Given the description of an element on the screen output the (x, y) to click on. 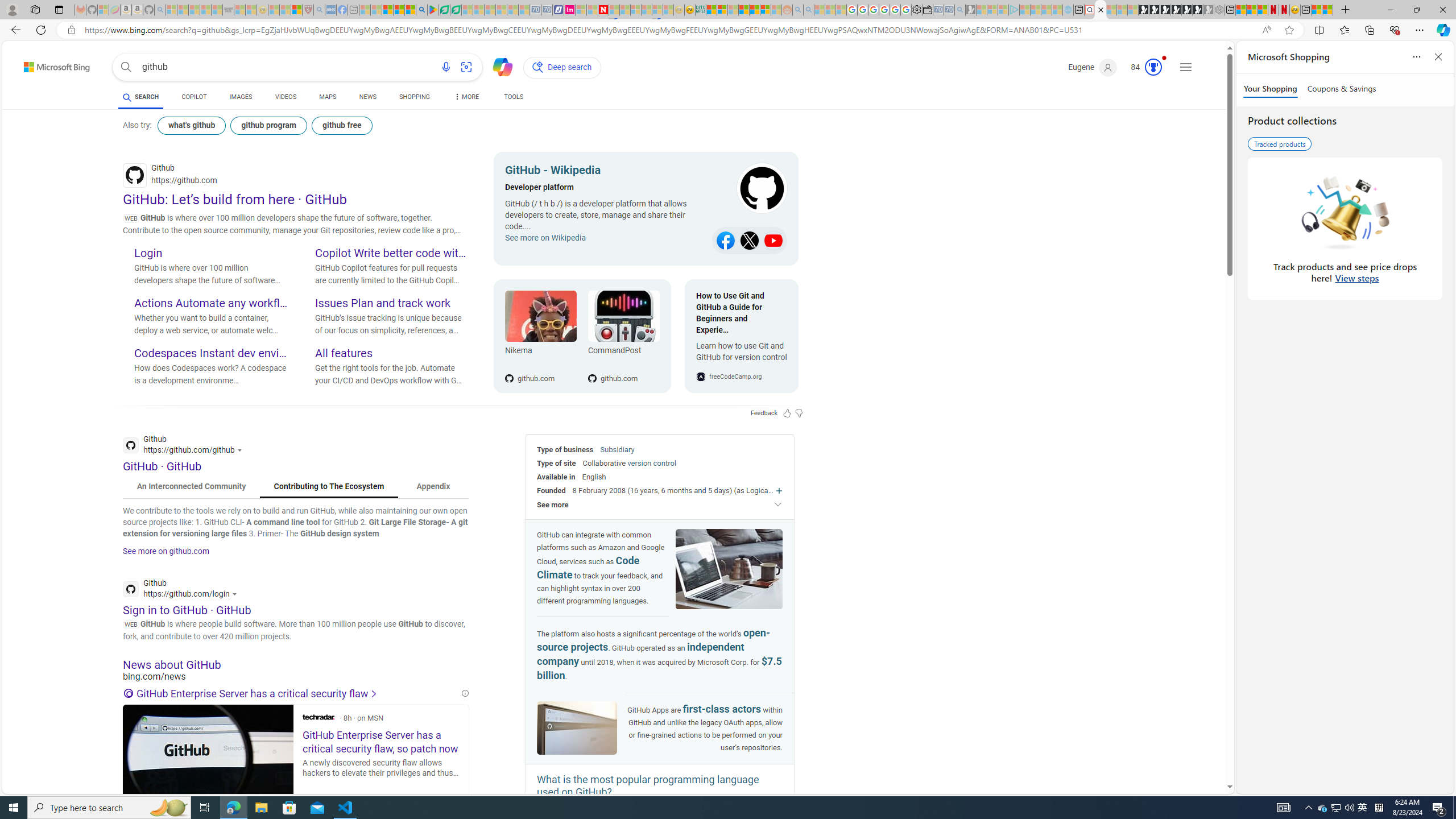
Founded (551, 490)
Login (210, 254)
SHOPPING (414, 98)
Cheap Hotels - Save70.com - Sleeping (546, 9)
github program (269, 125)
TOOLS (512, 96)
